Given the description of an element on the screen output the (x, y) to click on. 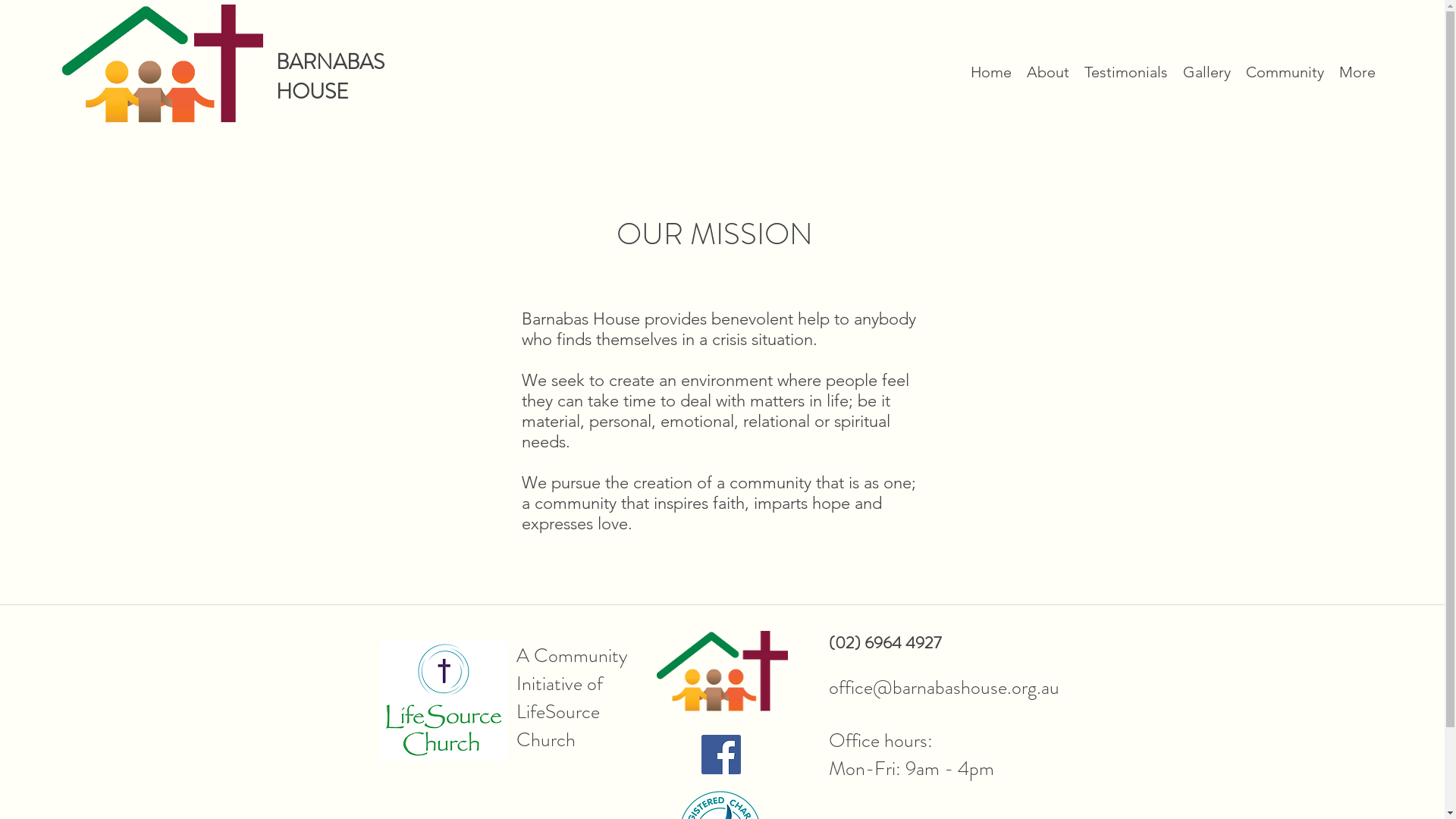
Home Element type: text (991, 72)
office@barnabashouse.org.au Element type: text (943, 687)
Gallery Element type: text (1206, 72)
BARNABAS HOUSE Element type: text (330, 76)
Testimonials Element type: text (1125, 72)
